Given the description of an element on the screen output the (x, y) to click on. 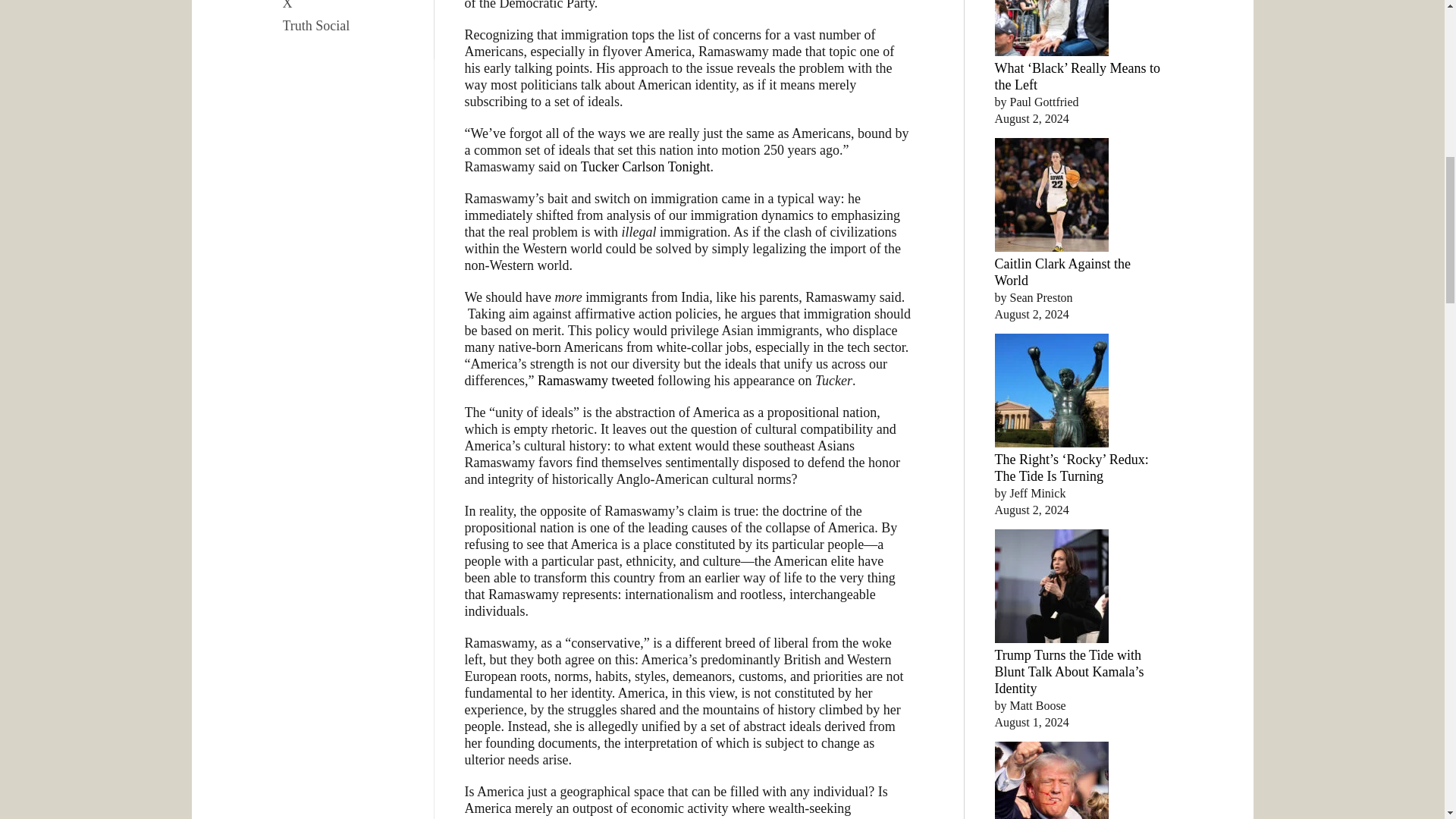
Ramaswamy tweeted (595, 380)
X (349, 6)
Tucker Carlson Tonight (645, 166)
Caitlin Clark Against the World (1062, 272)
Truth Social (349, 25)
